Given the description of an element on the screen output the (x, y) to click on. 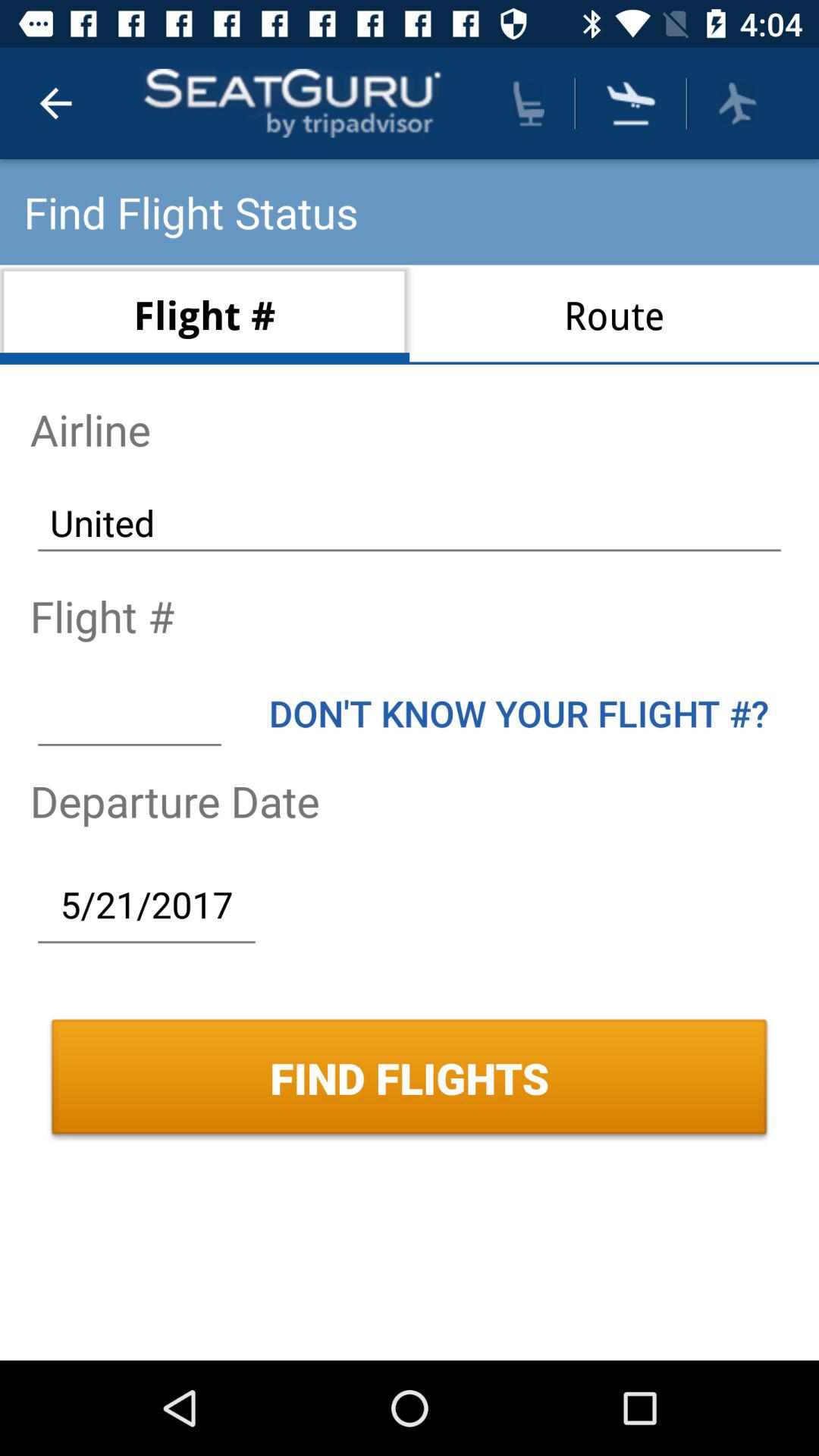
turn off item above the departure date (129, 712)
